Given the description of an element on the screen output the (x, y) to click on. 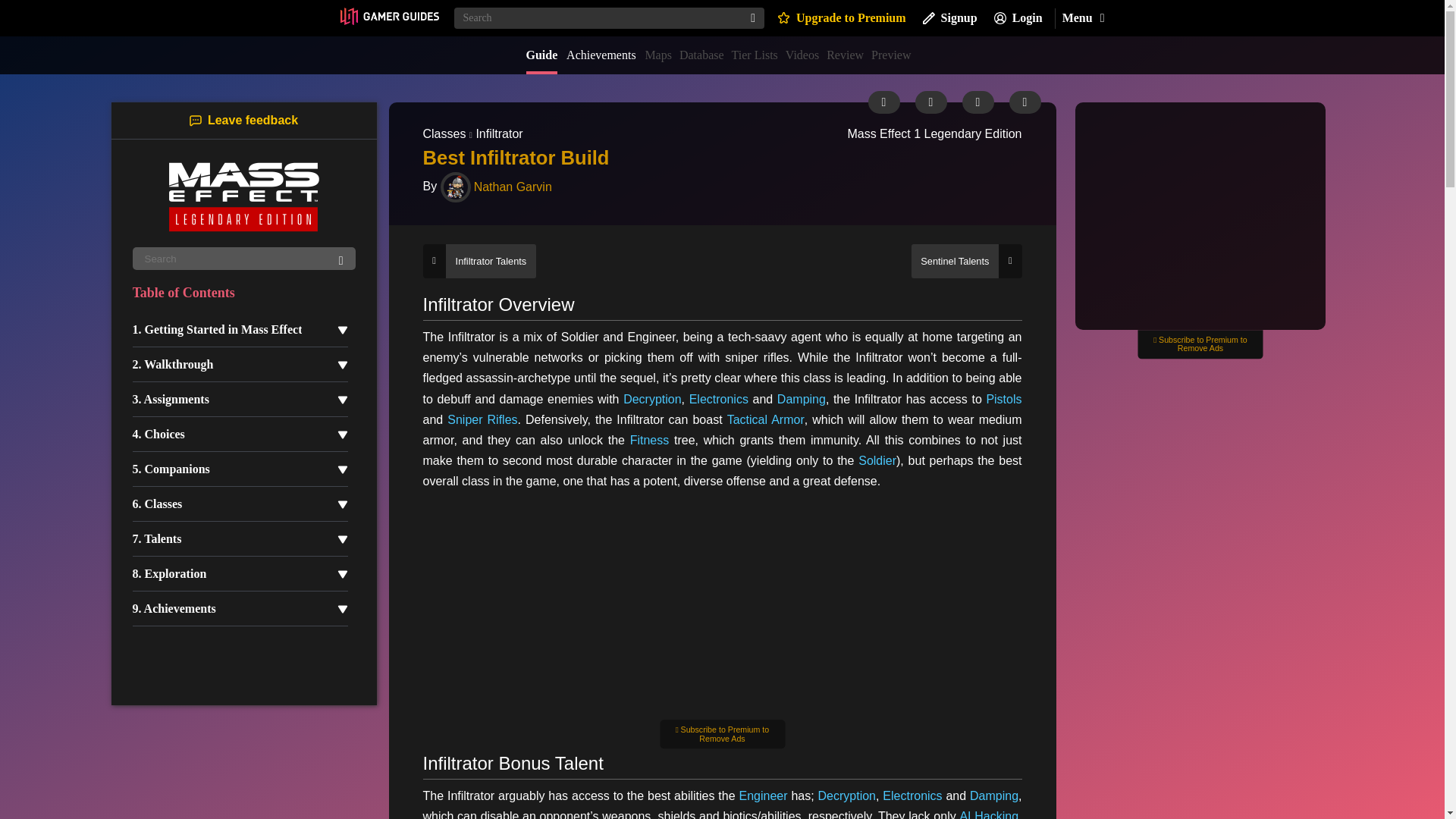
Download guide (930, 101)
Login (1018, 18)
Game logo (242, 196)
Favorite (1025, 101)
Leave feedback (243, 120)
Signup (949, 18)
Share (976, 101)
Main Menu (1082, 18)
Home (388, 17)
Guide information (883, 101)
Achievements (600, 55)
Achievements (600, 55)
